Given the description of an element on the screen output the (x, y) to click on. 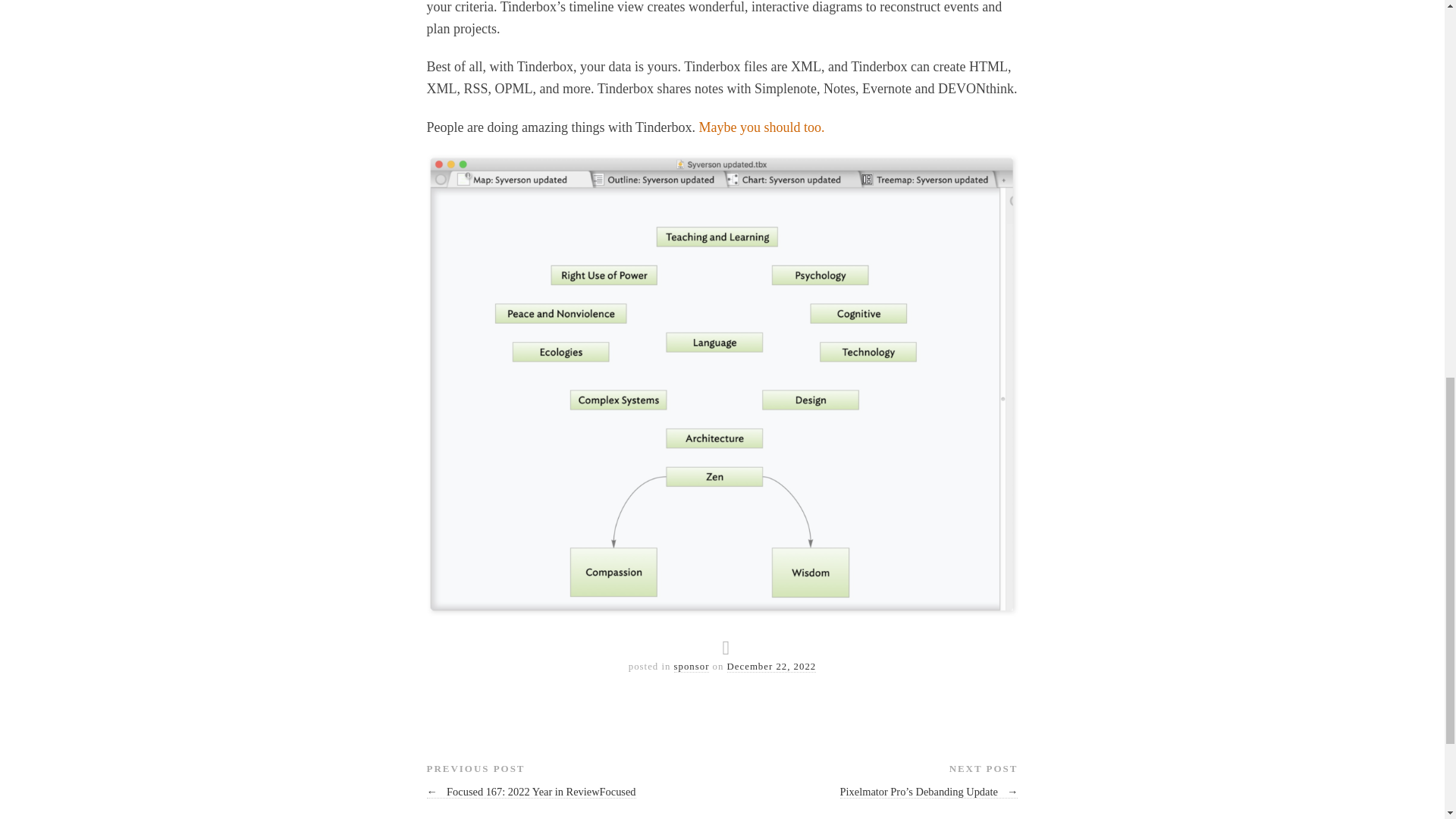
09:07 (771, 666)
sponsor (692, 666)
Maybe you should too. (761, 127)
December 22, 2022 (771, 666)
